Given the description of an element on the screen output the (x, y) to click on. 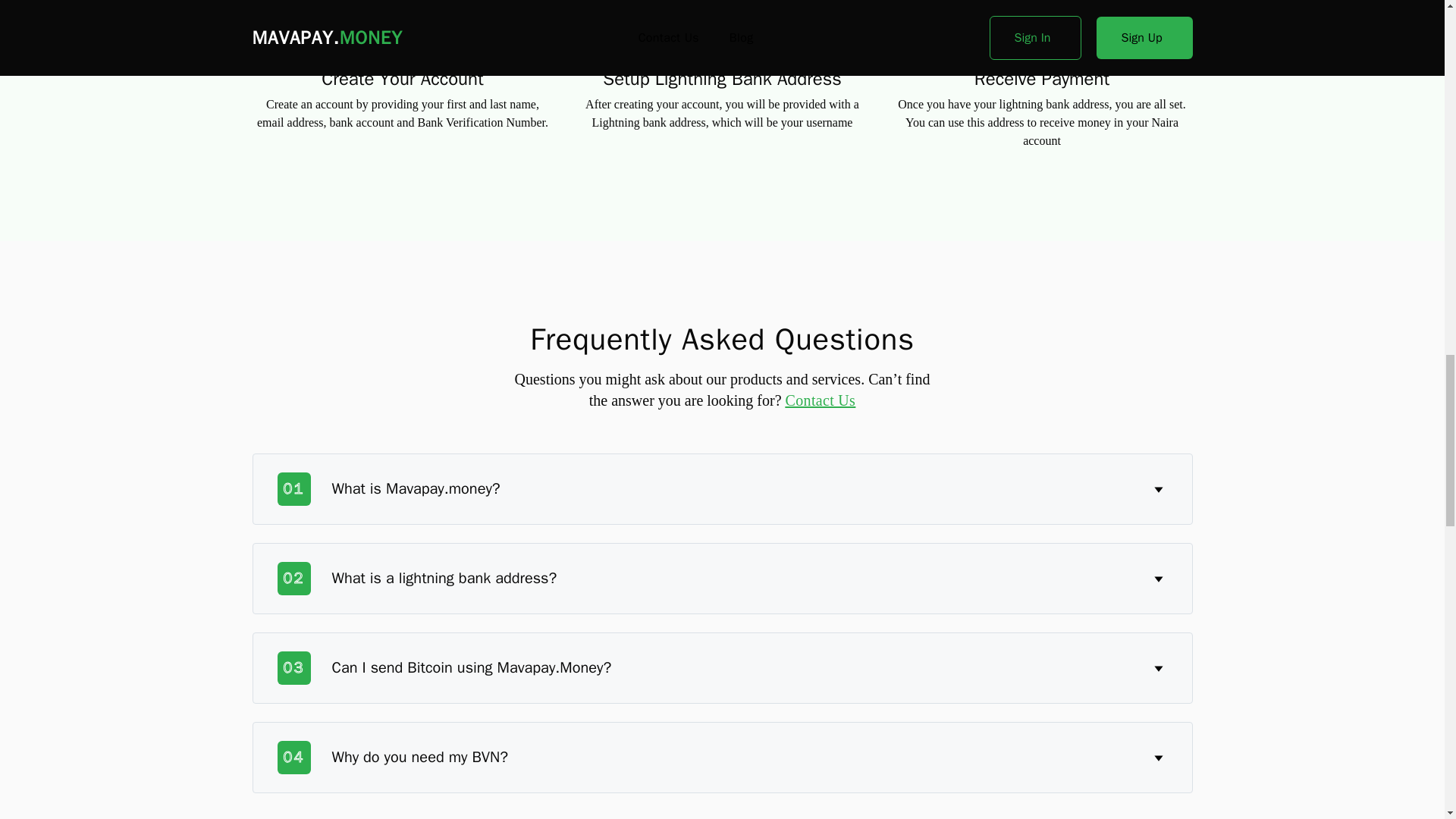
Contact Us (821, 400)
